Given the description of an element on the screen output the (x, y) to click on. 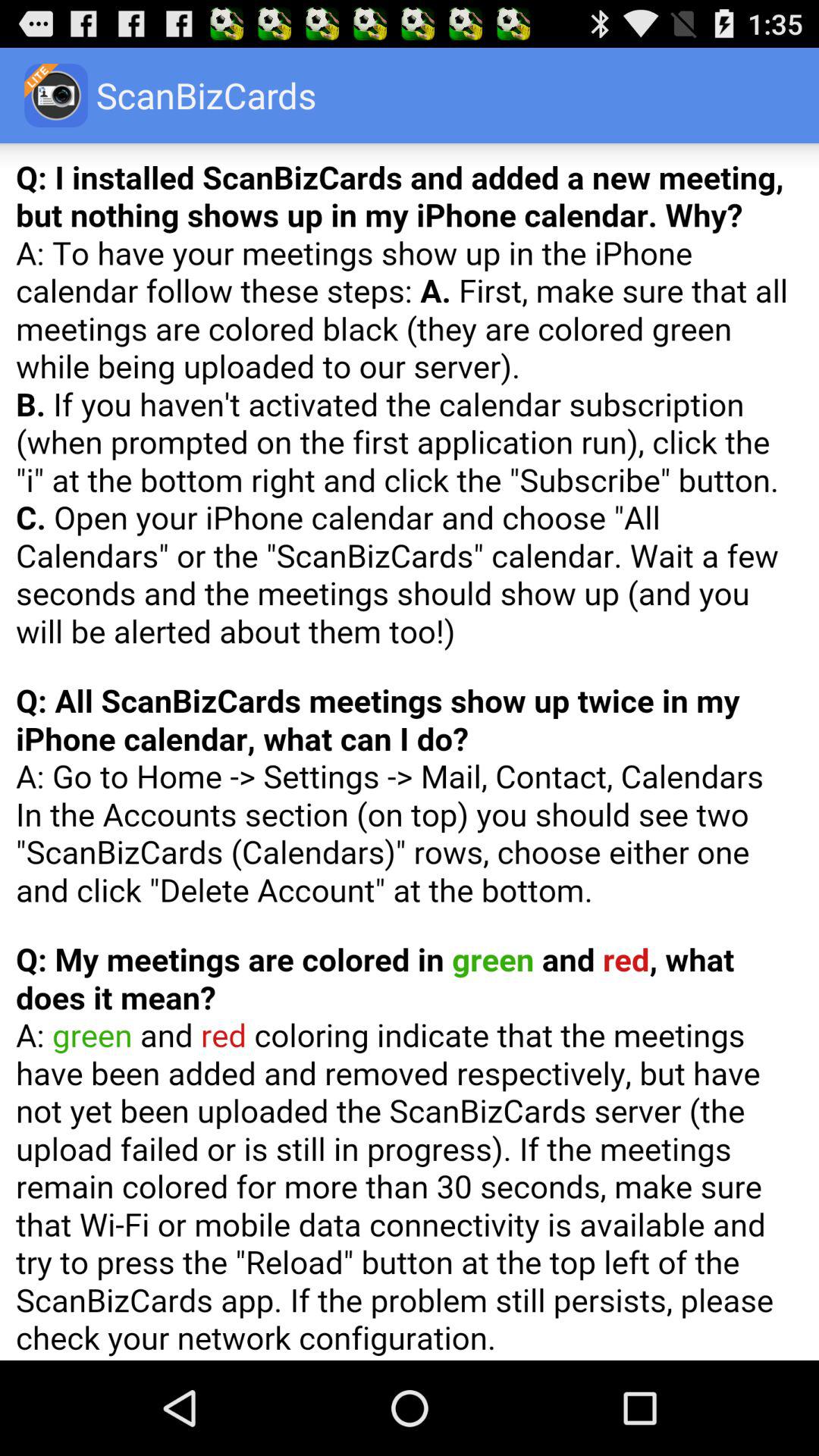
advertisement page (409, 751)
